Given the description of an element on the screen output the (x, y) to click on. 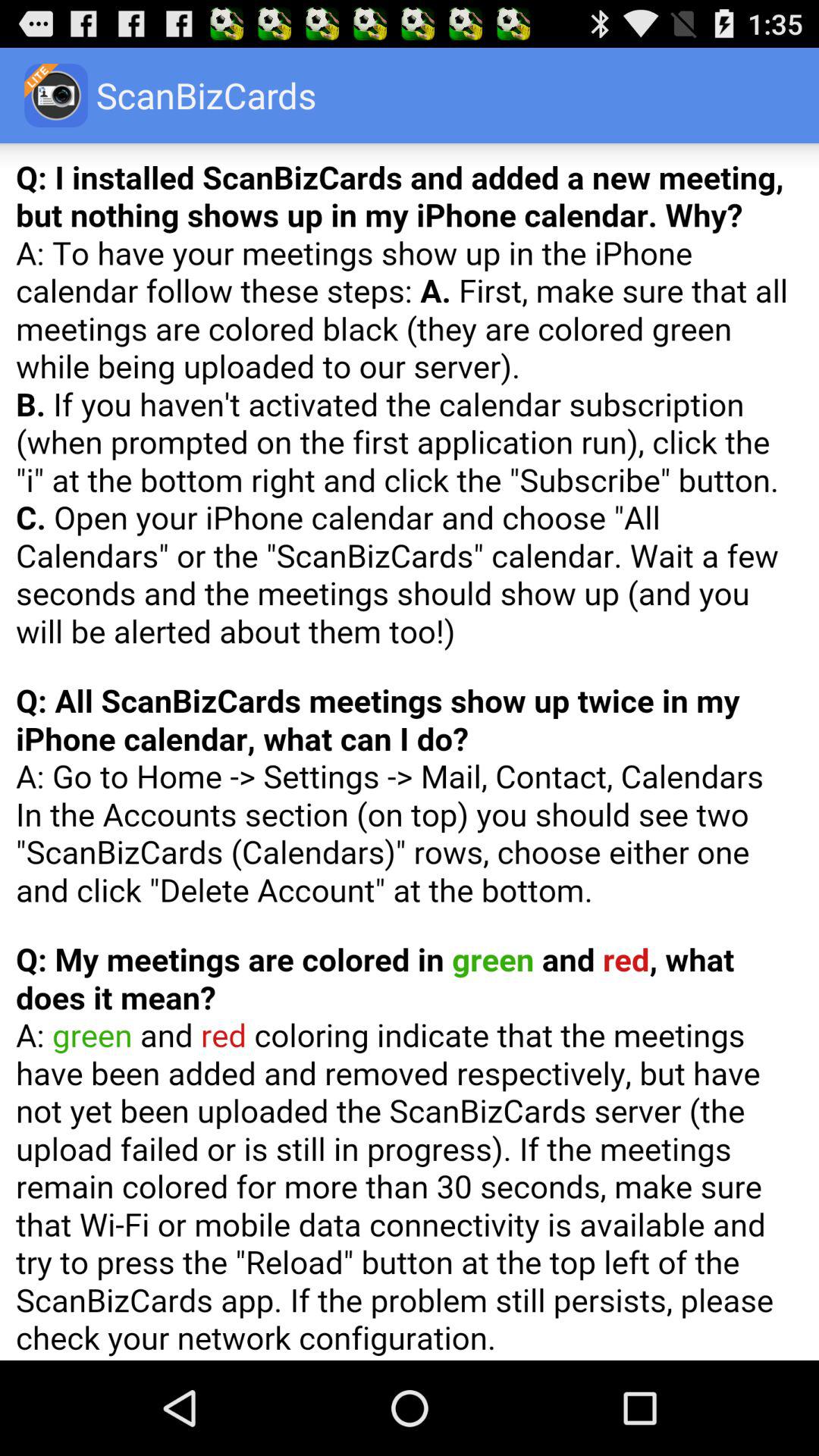
advertisement page (409, 751)
